Given the description of an element on the screen output the (x, y) to click on. 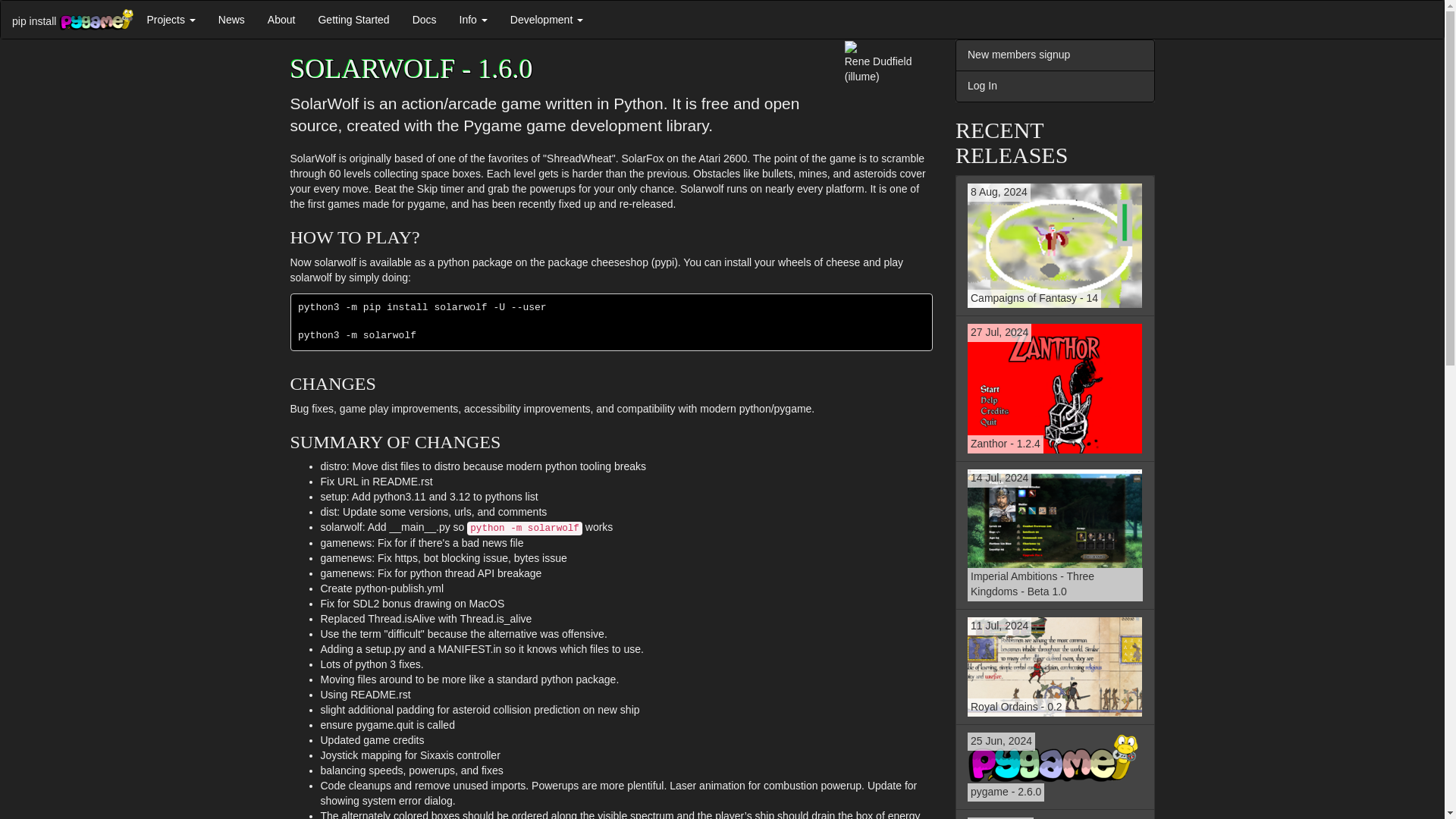
New members signup (1054, 55)
Development (546, 19)
Real-time strategy game set in a fantasy world. (1054, 245)
Info (1054, 535)
Docs (473, 19)
News (1054, 245)
